Given the description of an element on the screen output the (x, y) to click on. 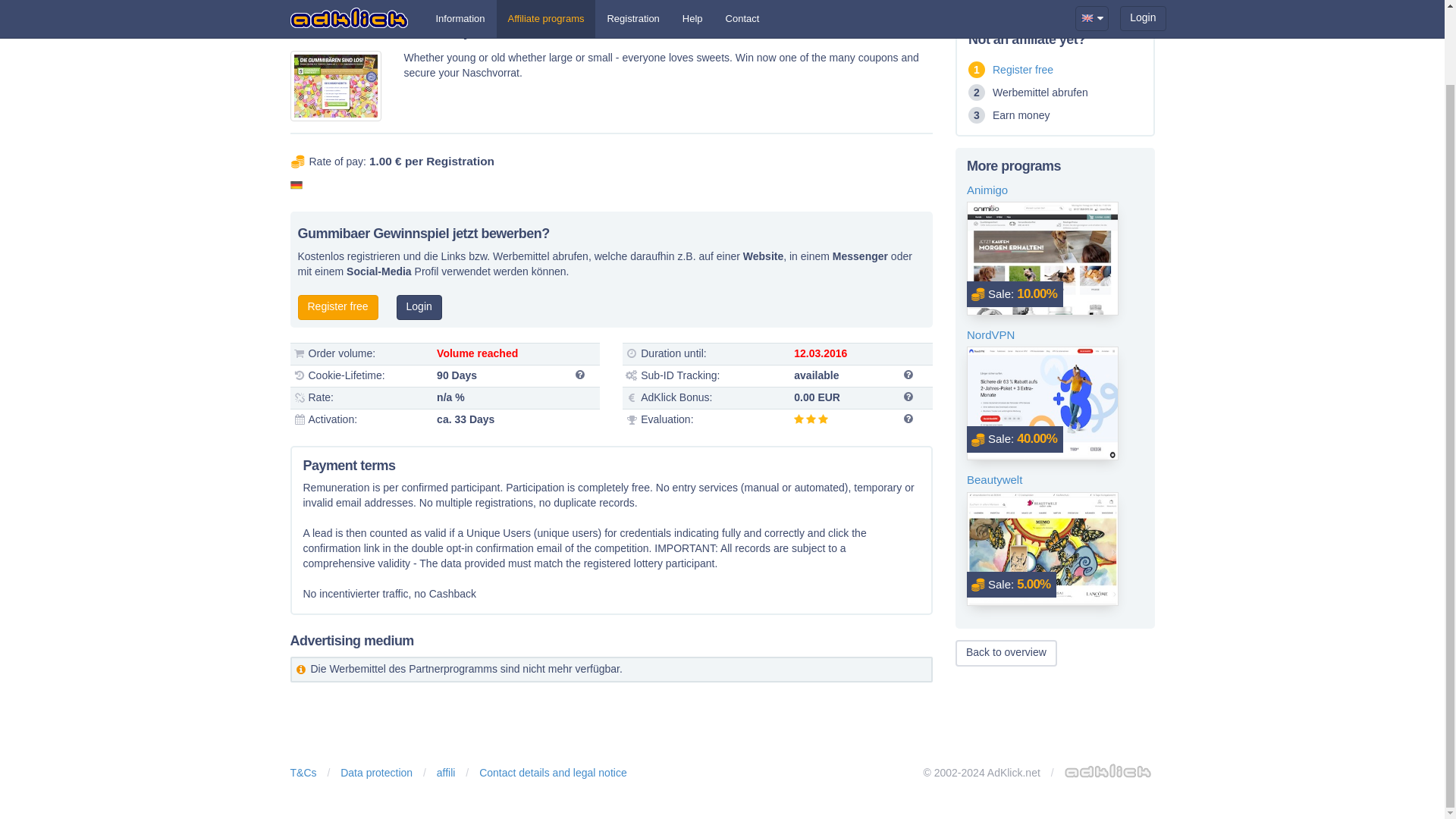
Login (419, 307)
Register free (1022, 69)
Animigo (1054, 189)
Geld verdienen (337, 307)
Register free (337, 307)
